Given the description of an element on the screen output the (x, y) to click on. 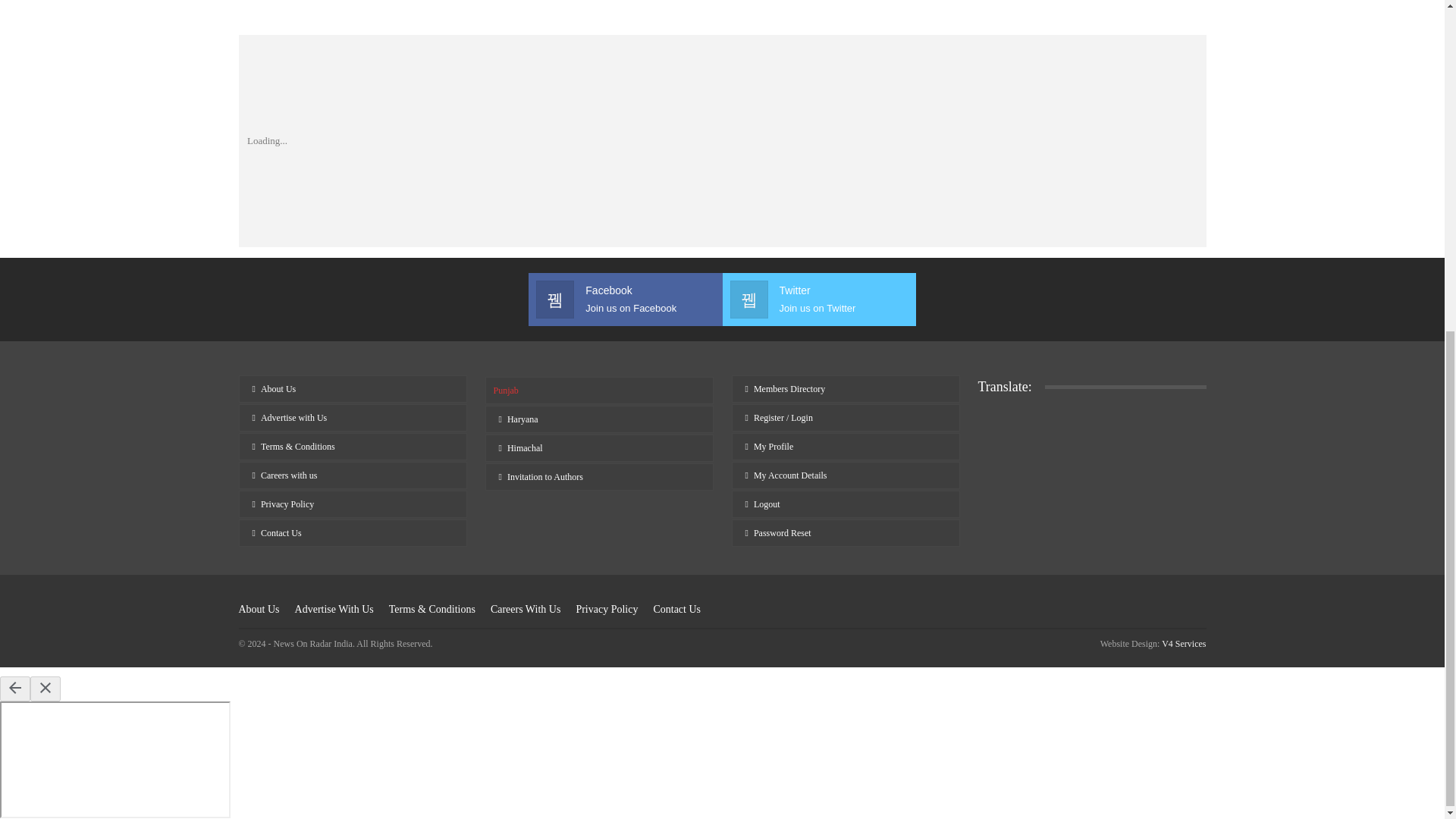
Logout (844, 549)
Members Directory (844, 433)
Search (963, 9)
Contact Us (624, 344)
Careers with us (351, 578)
Invitation to Authors (818, 344)
Punjab (351, 520)
My Profile (598, 522)
